Given the description of an element on the screen output the (x, y) to click on. 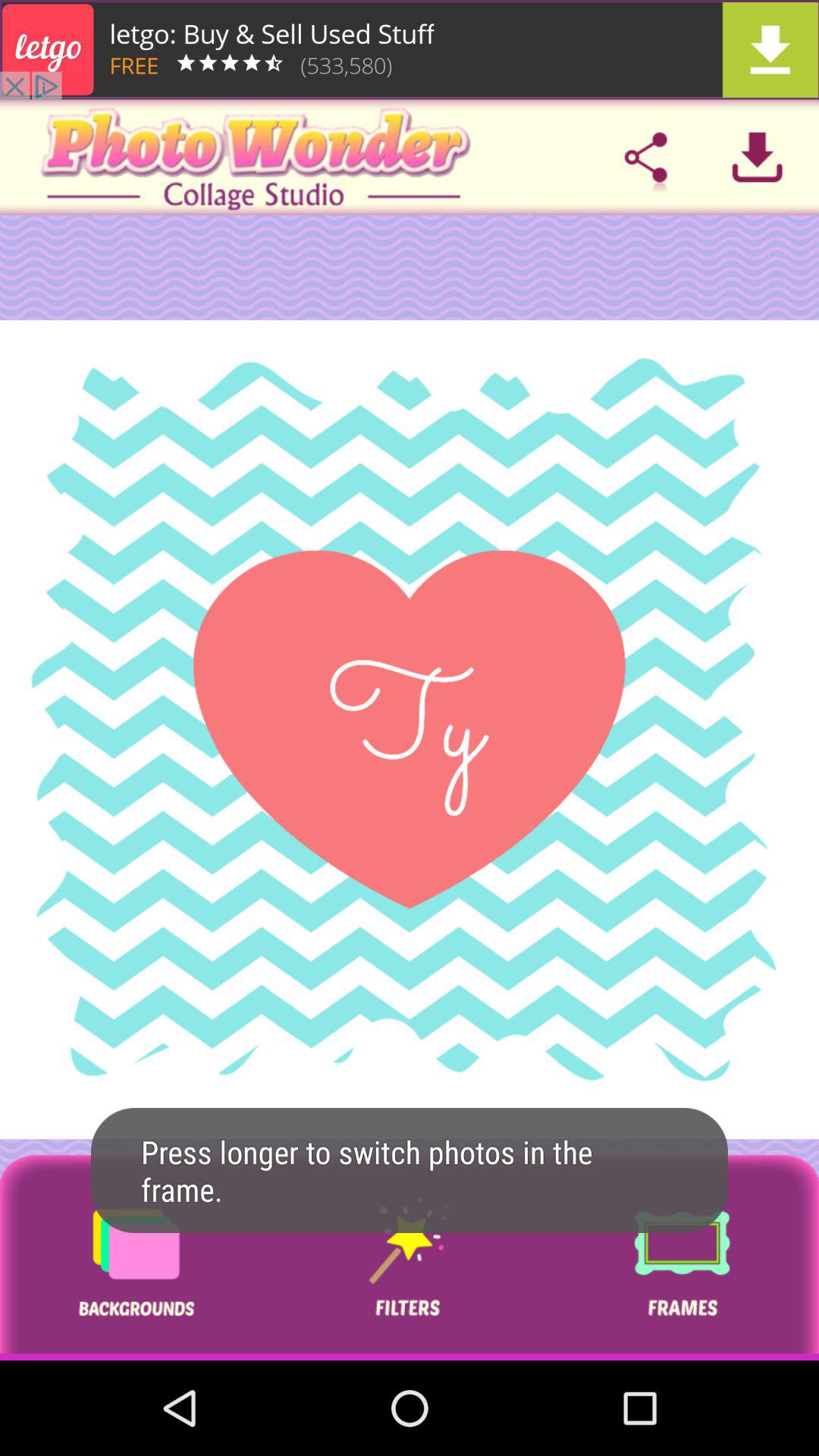
backgrounds (135, 1257)
